Given the description of an element on the screen output the (x, y) to click on. 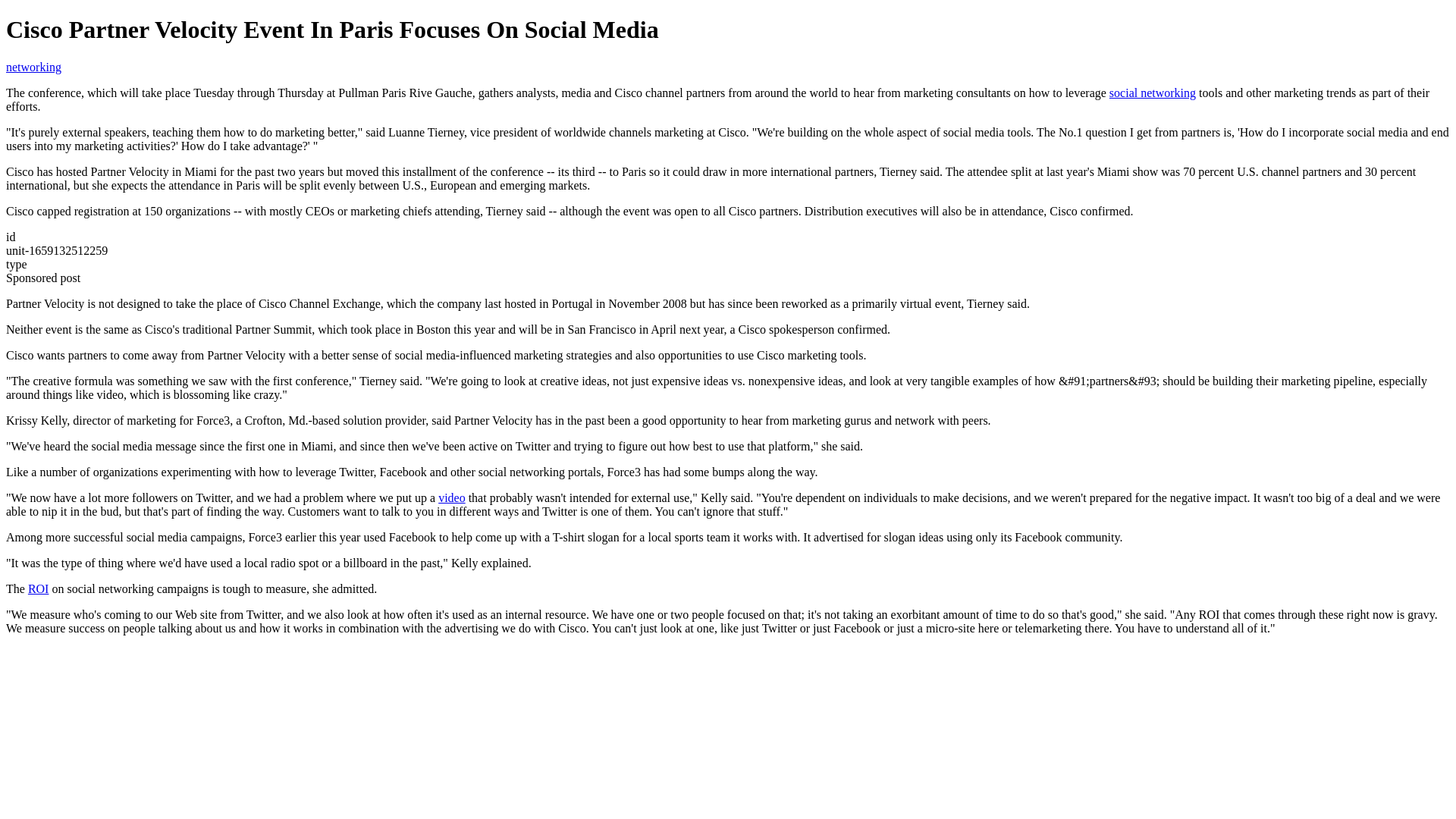
ROI (38, 588)
networking (33, 66)
video (451, 497)
social networking (1152, 92)
